Given the description of an element on the screen output the (x, y) to click on. 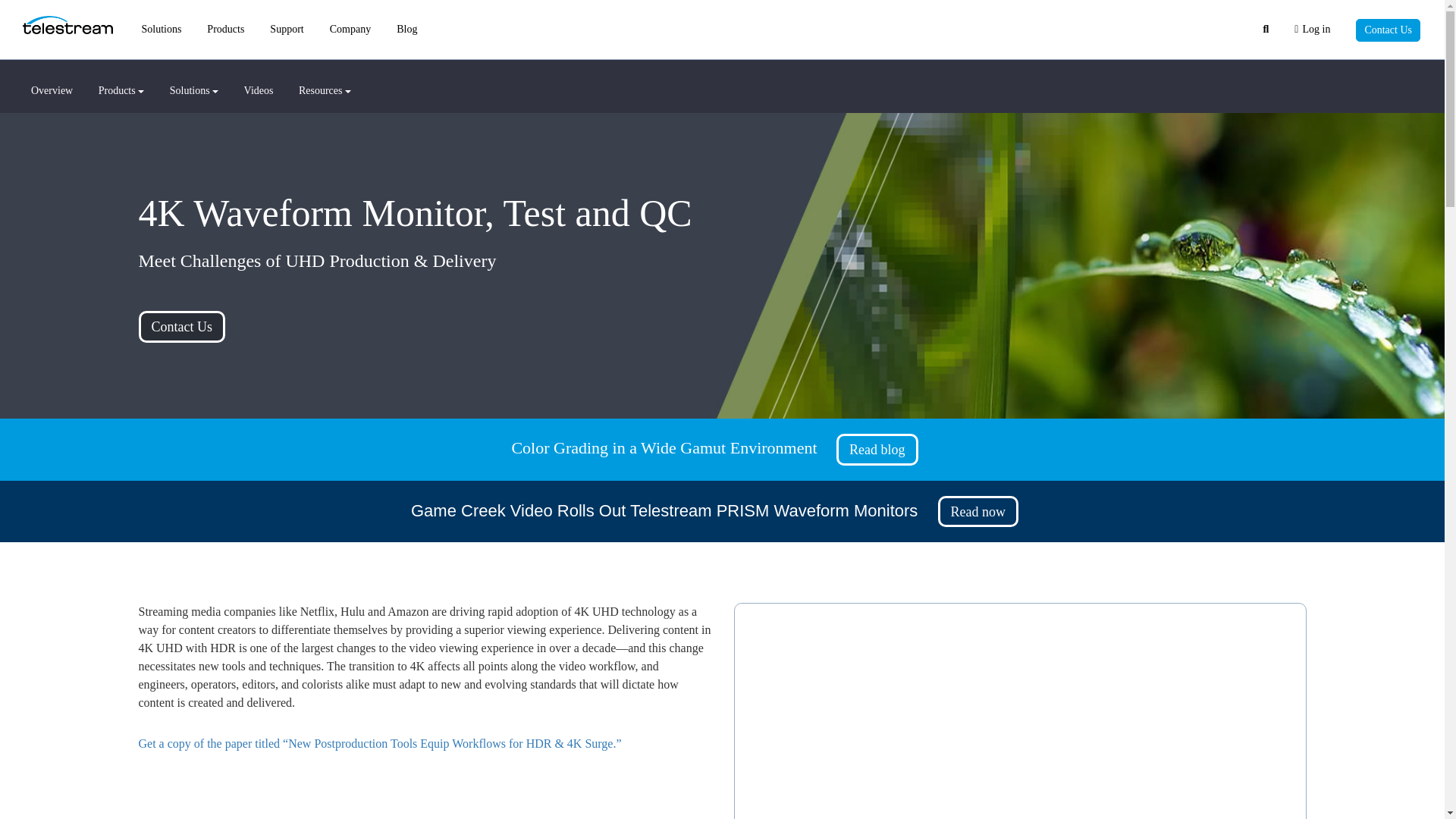
Products (225, 29)
Solutions (160, 29)
